Given the description of an element on the screen output the (x, y) to click on. 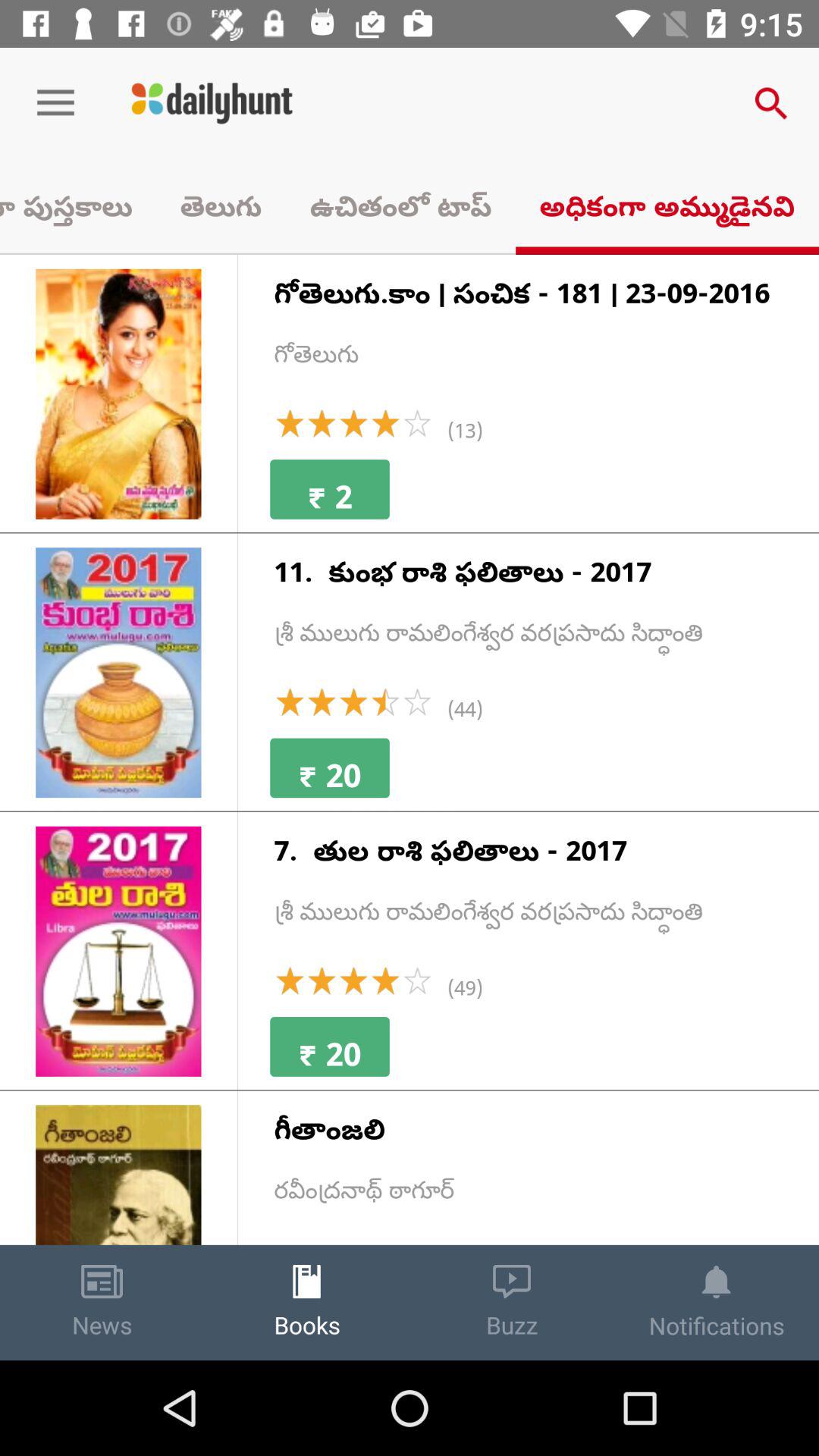
click on icon above buzz (511, 1281)
